Given the description of an element on the screen output the (x, y) to click on. 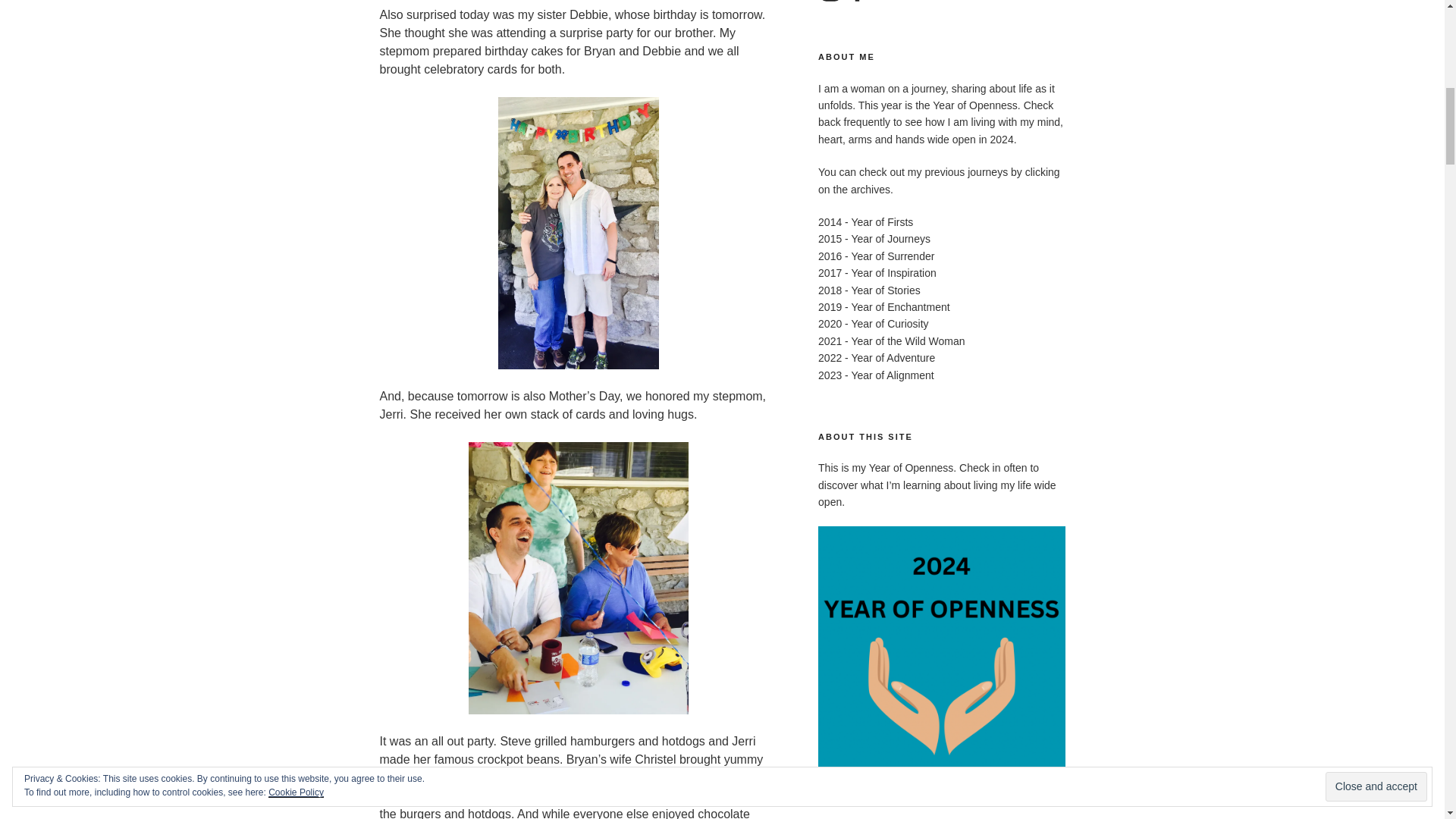
Happy Mother's Day Jerri (578, 578)
Debbie and Bryan (578, 233)
Facebook (857, 2)
Instagram (830, 2)
